Given the description of an element on the screen output the (x, y) to click on. 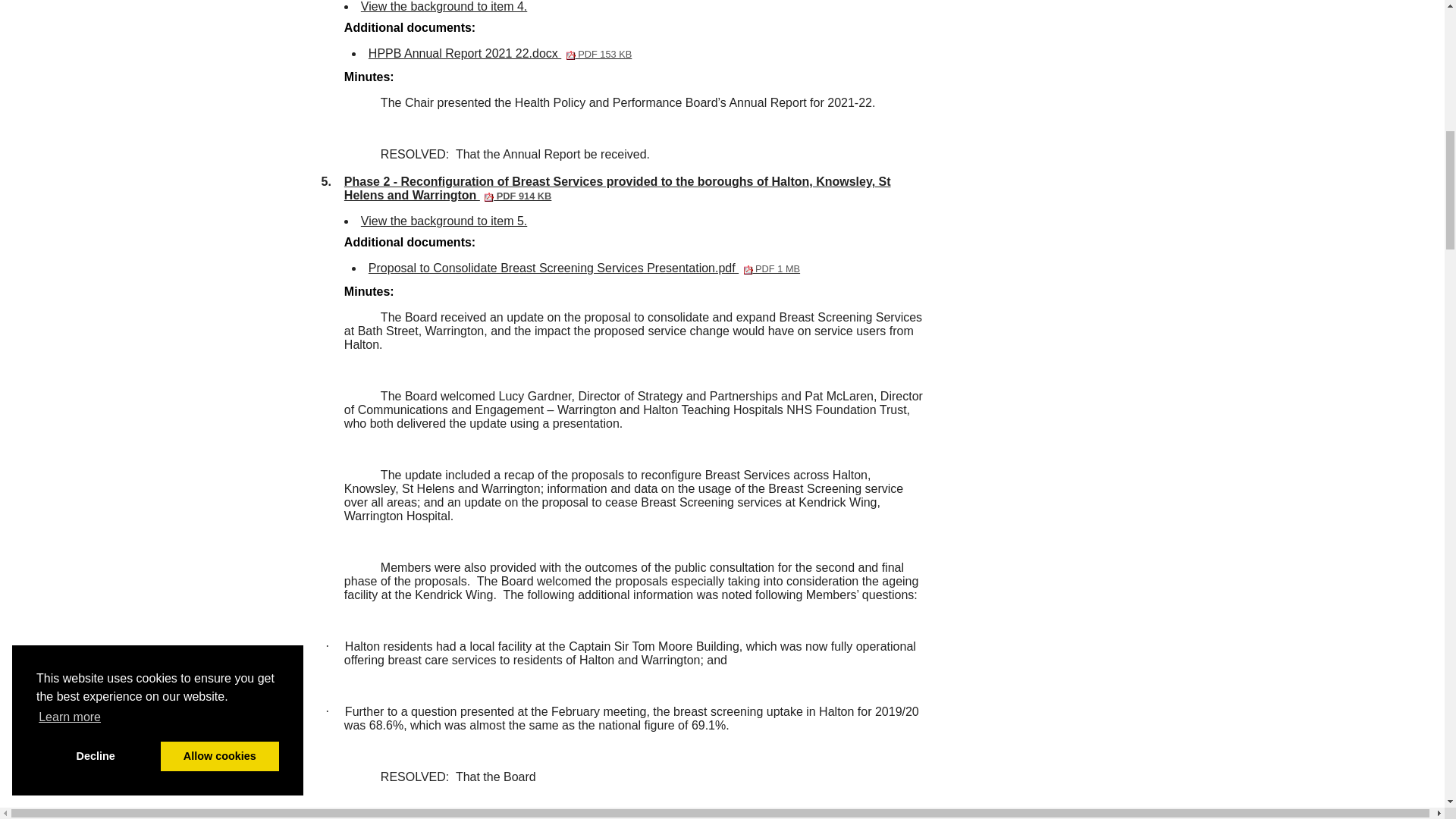
View the background to item 4. (499, 52)
View the background to item 5. (444, 6)
Link to issue details for  item 4. (444, 220)
Link to document 'HPPB Annual Report 2021 22.docx' pdf file (444, 6)
Link to issue details for  item 5. (499, 52)
